Given the description of an element on the screen output the (x, y) to click on. 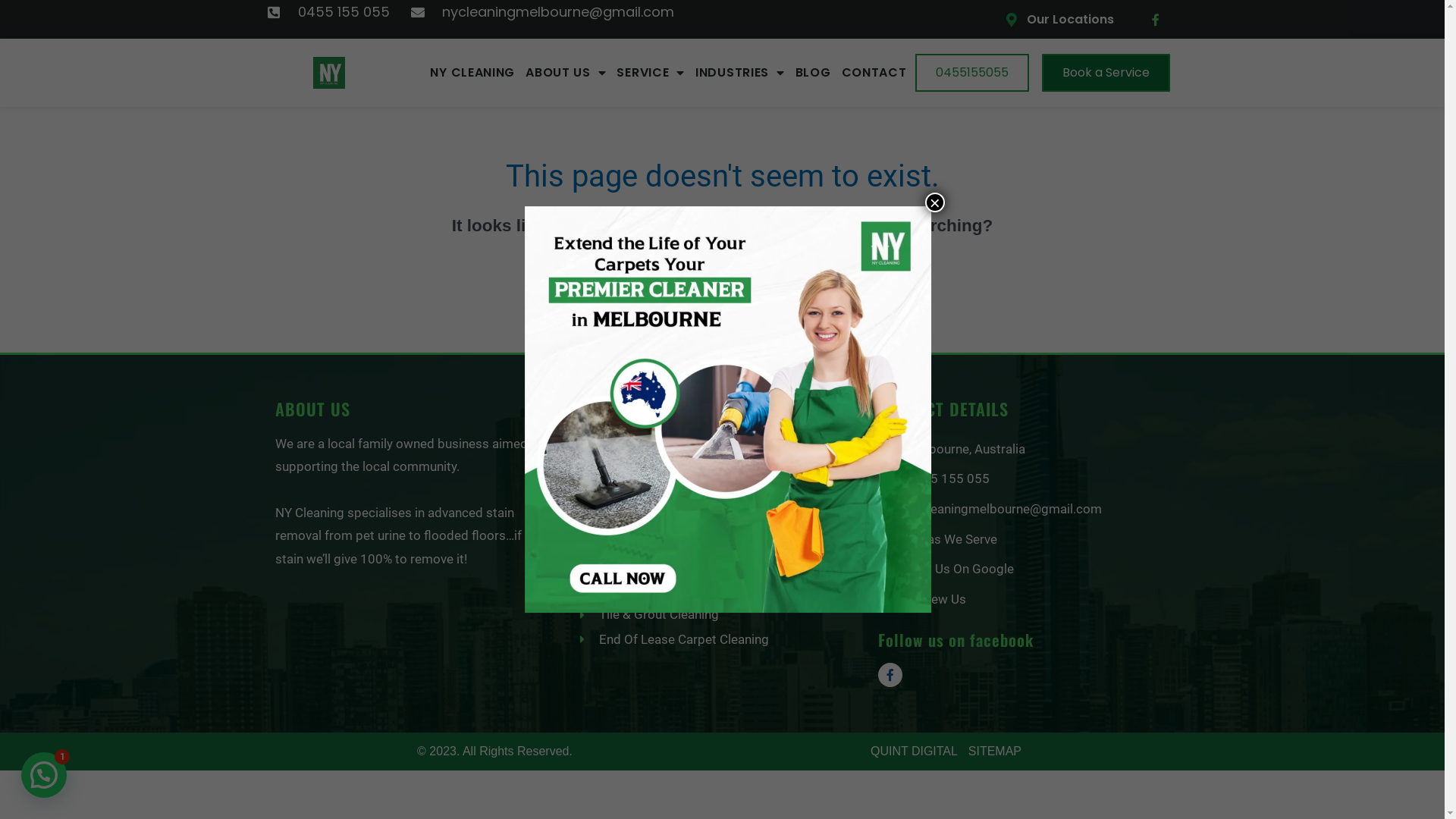
NY CLEANING Element type: text (471, 72)
nycleaningmelbourne@gmail.com Element type: text (542, 11)
SERVICE Element type: text (650, 72)
ABOUT US Element type: text (565, 72)
Book a Service Element type: text (1105, 72)
INDUSTRIES Element type: text (739, 72)
BLOG Element type: text (813, 72)
Search Element type: text (845, 275)
Rug & Mat Cleaning Element type: text (720, 565)
SITEMAP Element type: text (994, 751)
nycleaningmelbourne@gmail.com Element type: text (1023, 509)
Areas We Serve Element type: text (1023, 539)
Flood Damage Element type: text (720, 466)
Stain Removal Element type: text (720, 589)
CONTACT Element type: text (874, 72)
Melbourne, Australia Element type: text (1023, 449)
Tile & Grout Cleaning Element type: text (720, 614)
Review Us Element type: text (1023, 599)
Car Interior Cleaning Element type: text (720, 441)
Leather & Upholstery Cleaning Element type: text (720, 540)
Our Locations Element type: text (1067, 19)
Find Us On Google Element type: text (1023, 569)
End Of Lease Carpet Cleaning Element type: text (720, 639)
0455 155 055 Element type: text (1023, 479)
0455 155 055 Element type: text (327, 11)
0455155055 Element type: text (972, 72)
Carpet Steam Cleaning Element type: text (720, 491)
Commercial Carpet Cleaning Element type: text (720, 516)
QUINT DIGITAL Element type: text (913, 750)
